Given the description of an element on the screen output the (x, y) to click on. 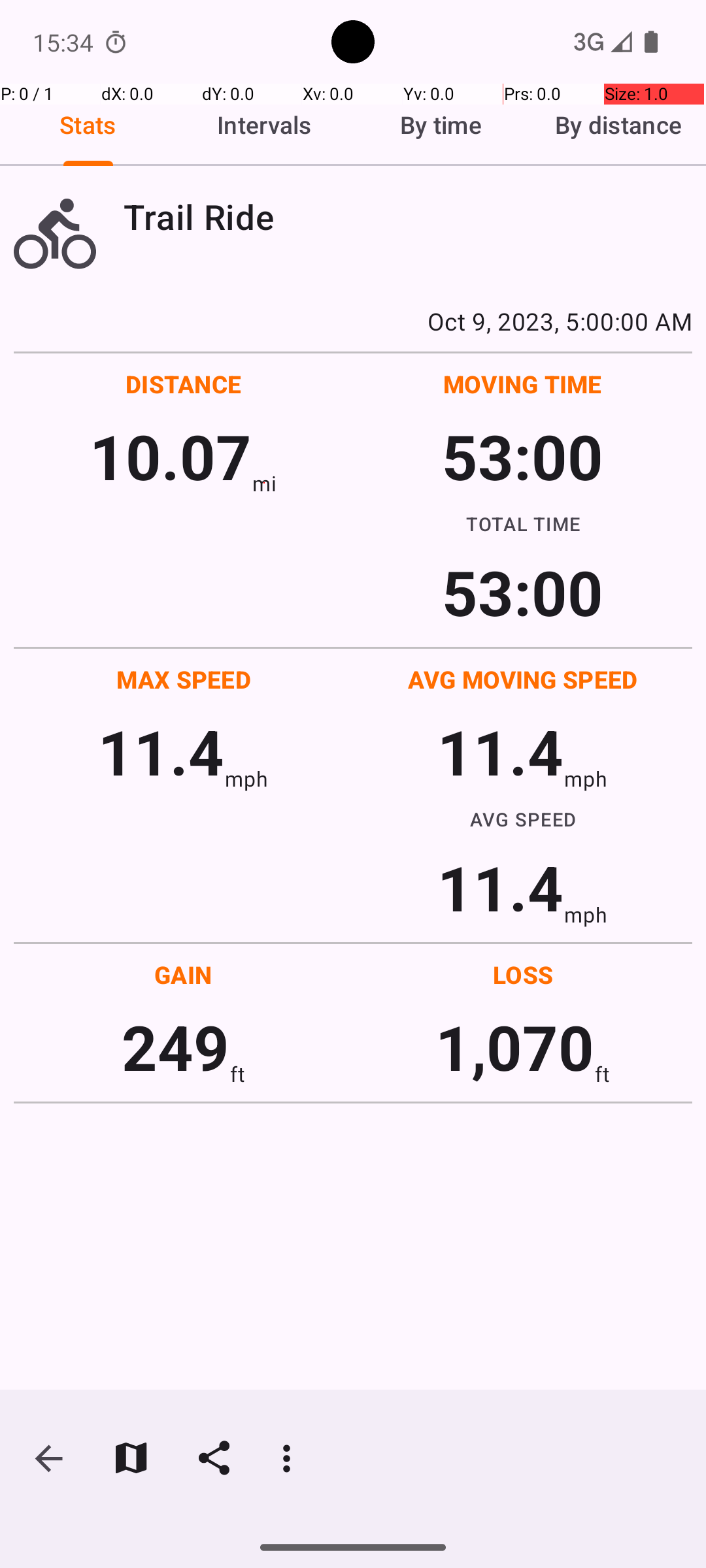
Trail Ride Element type: android.widget.TextView (407, 216)
Oct 9, 2023, 5:00:00 AM Element type: android.widget.TextView (352, 320)
10.07 Element type: android.widget.TextView (170, 455)
53:00 Element type: android.widget.TextView (522, 455)
11.4 Element type: android.widget.TextView (161, 750)
249 Element type: android.widget.TextView (175, 1045)
1,070 Element type: android.widget.TextView (514, 1045)
